Given the description of an element on the screen output the (x, y) to click on. 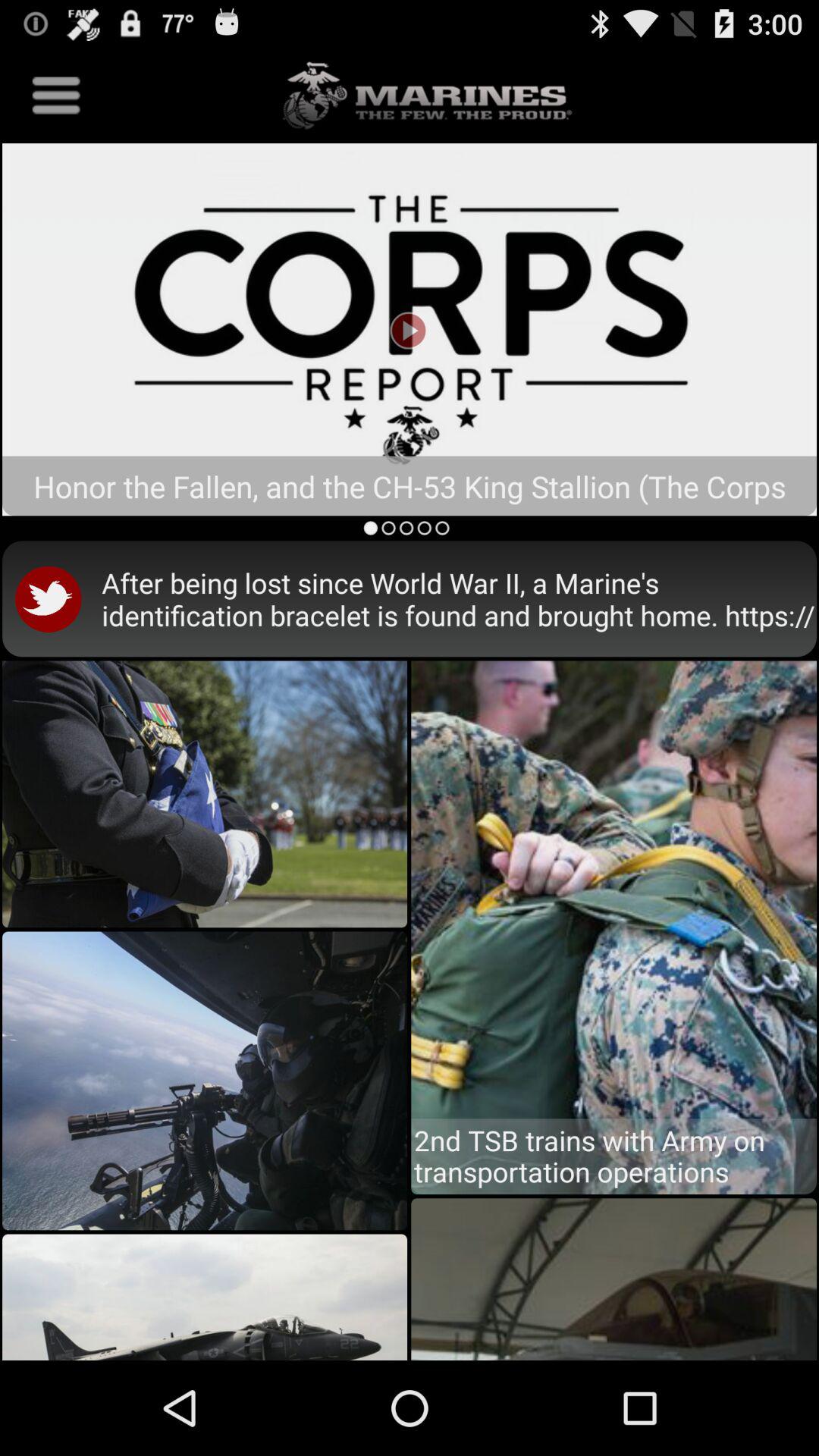
click the tittle (409, 329)
